Given the description of an element on the screen output the (x, y) to click on. 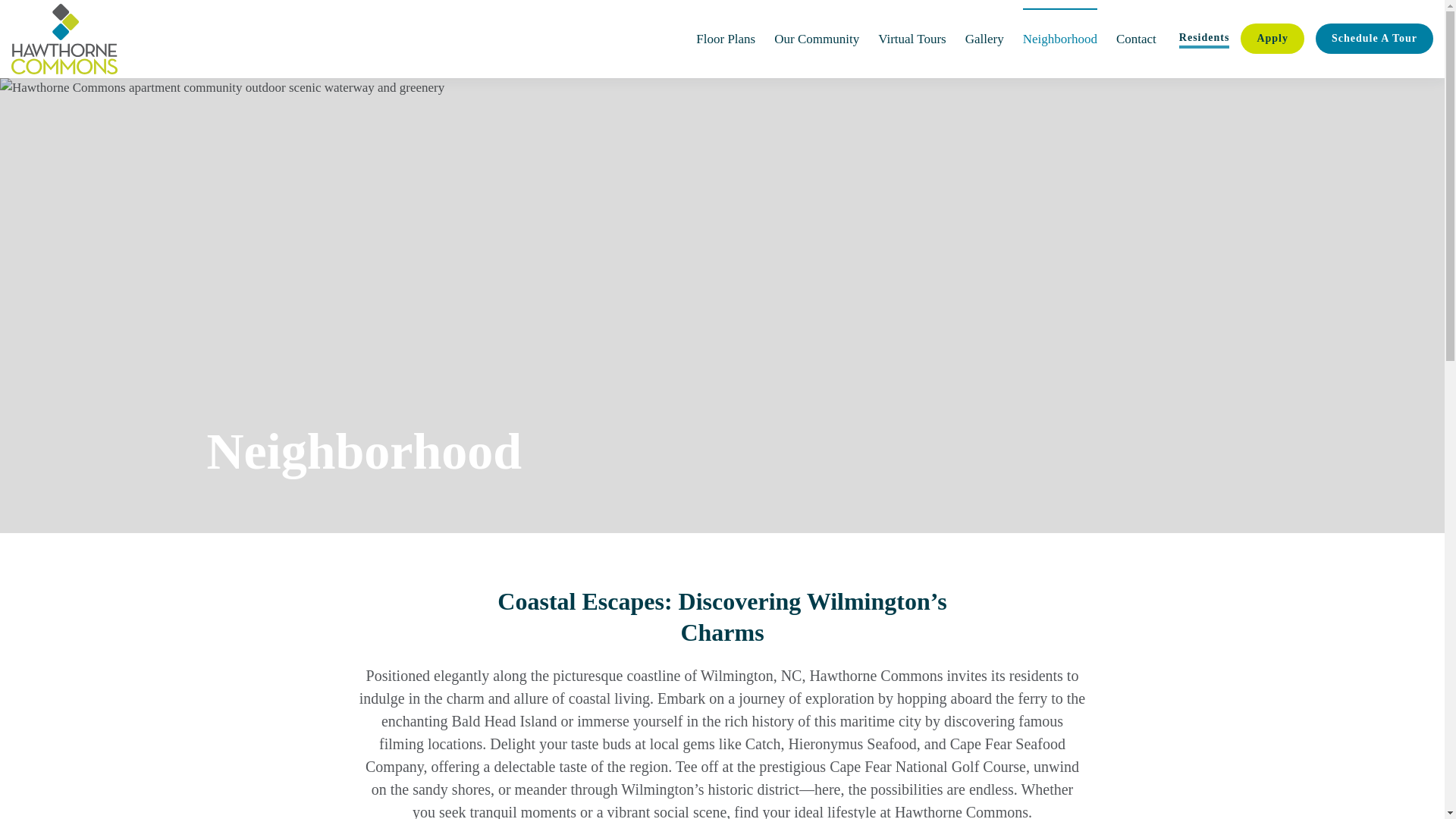
Schedule A Tour (1374, 38)
Virtual Tours (911, 38)
Our Community (816, 38)
Neighborhood (1060, 38)
Apply (1272, 38)
Floor Plans (725, 38)
Residents (1204, 38)
